Given the description of an element on the screen output the (x, y) to click on. 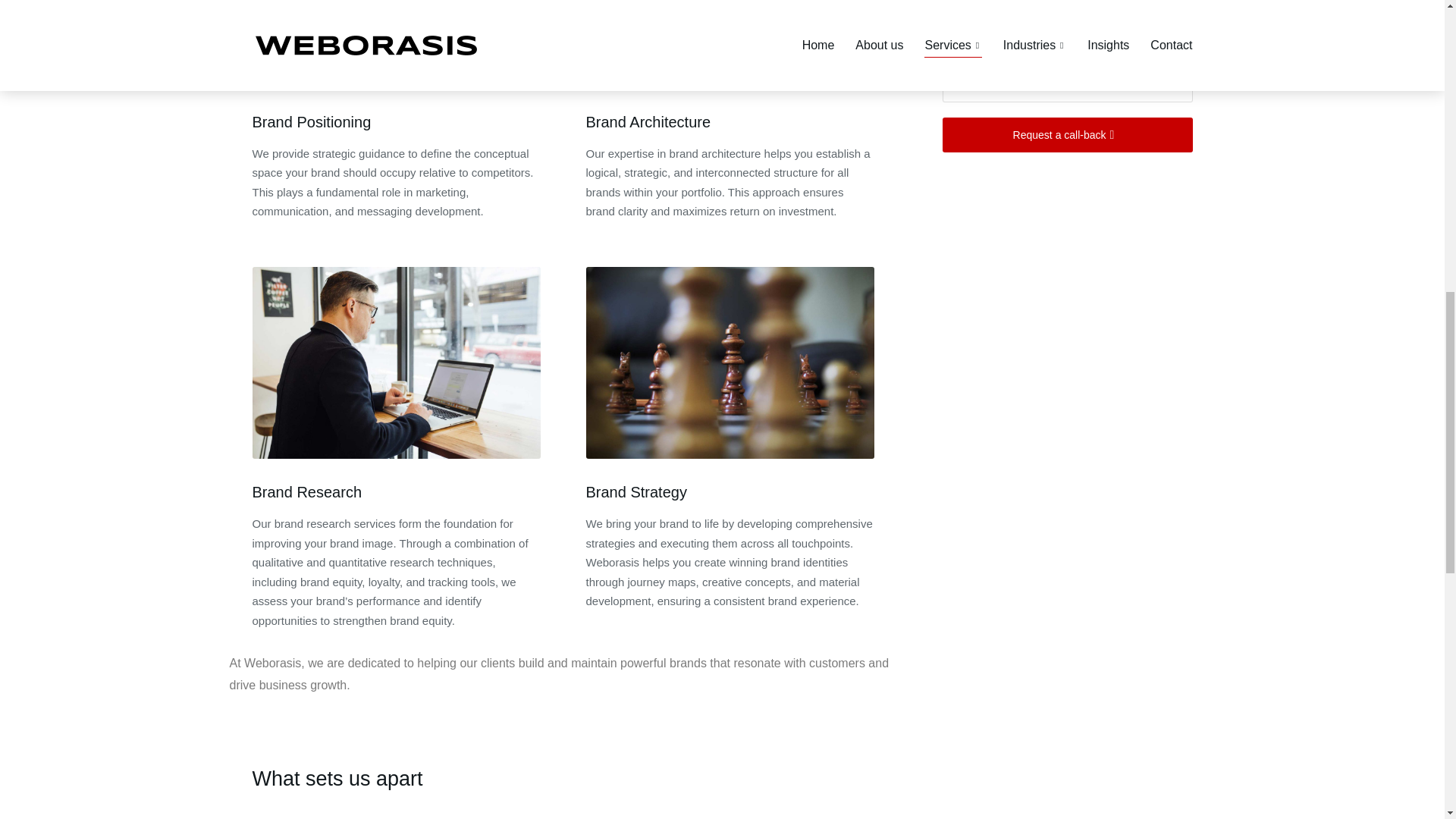
Innovative Solutions for Unparalleled Impact. (729, 816)
Strategic Global Vision, Local Expertise. (395, 816)
